Given the description of an element on the screen output the (x, y) to click on. 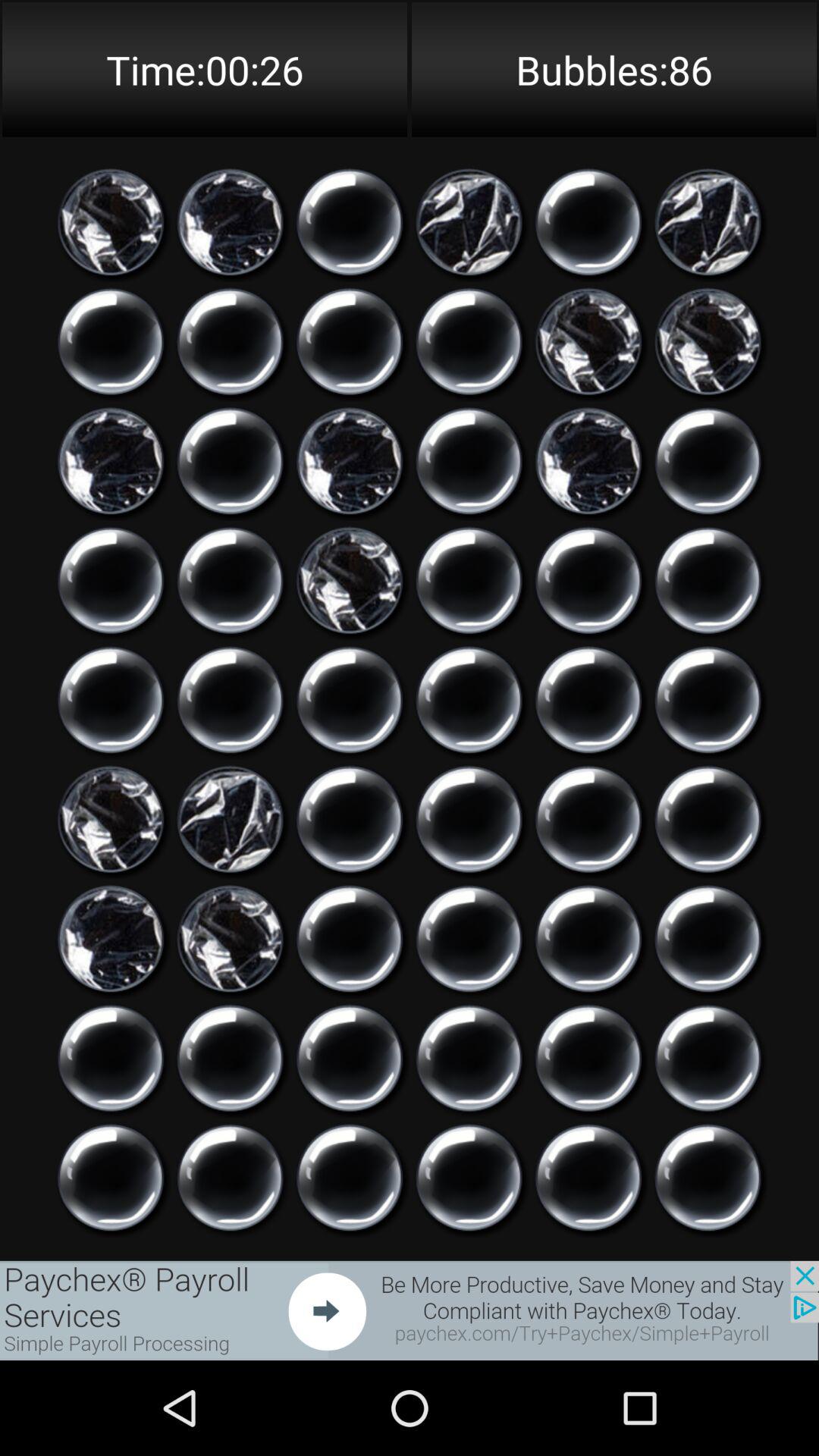
click on icon (707, 1177)
